Given the description of an element on the screen output the (x, y) to click on. 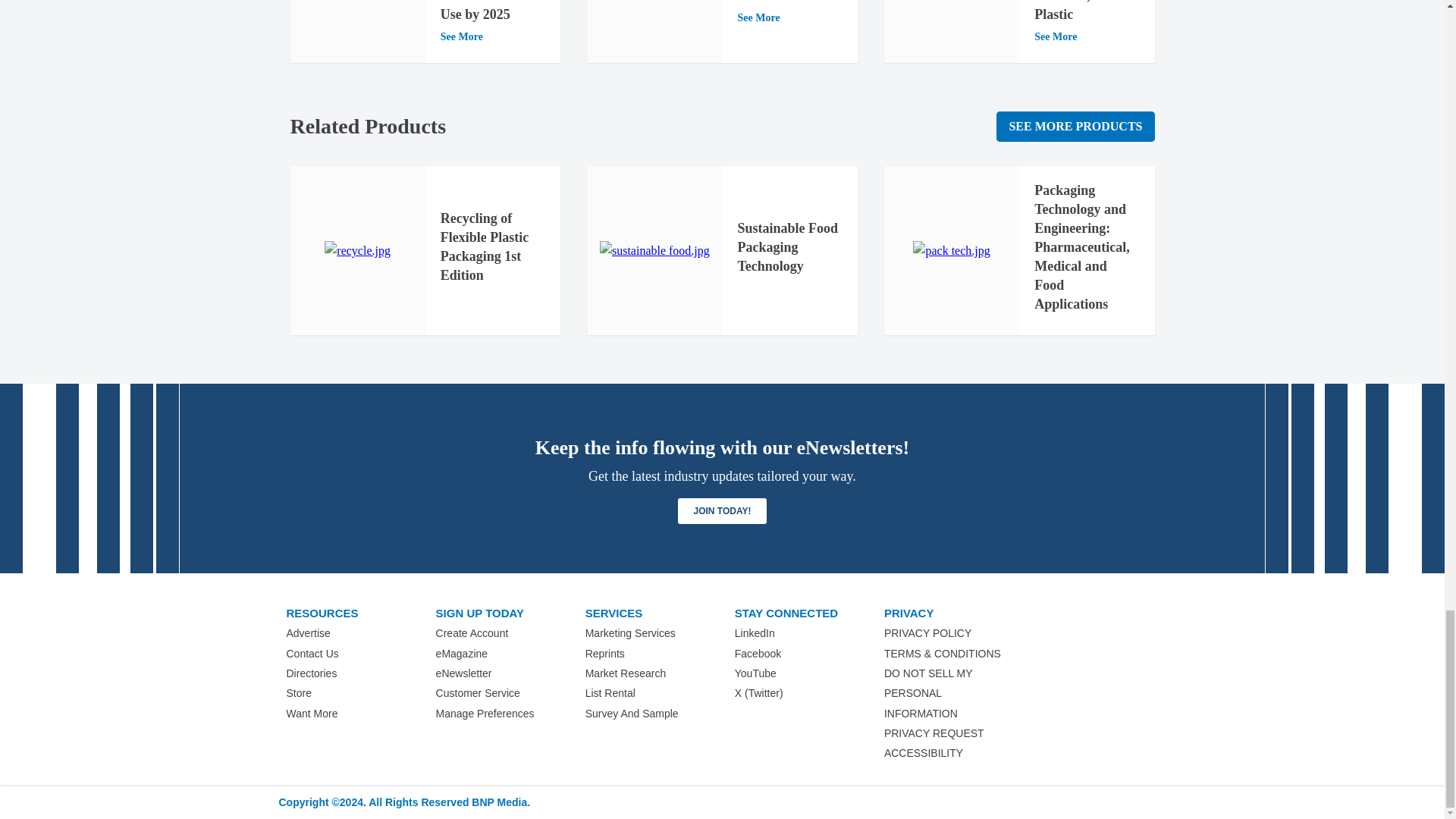
recycle.jpg (357, 250)
pack tech.jpg (951, 250)
sustainable food.jpg (654, 250)
